Given the description of an element on the screen output the (x, y) to click on. 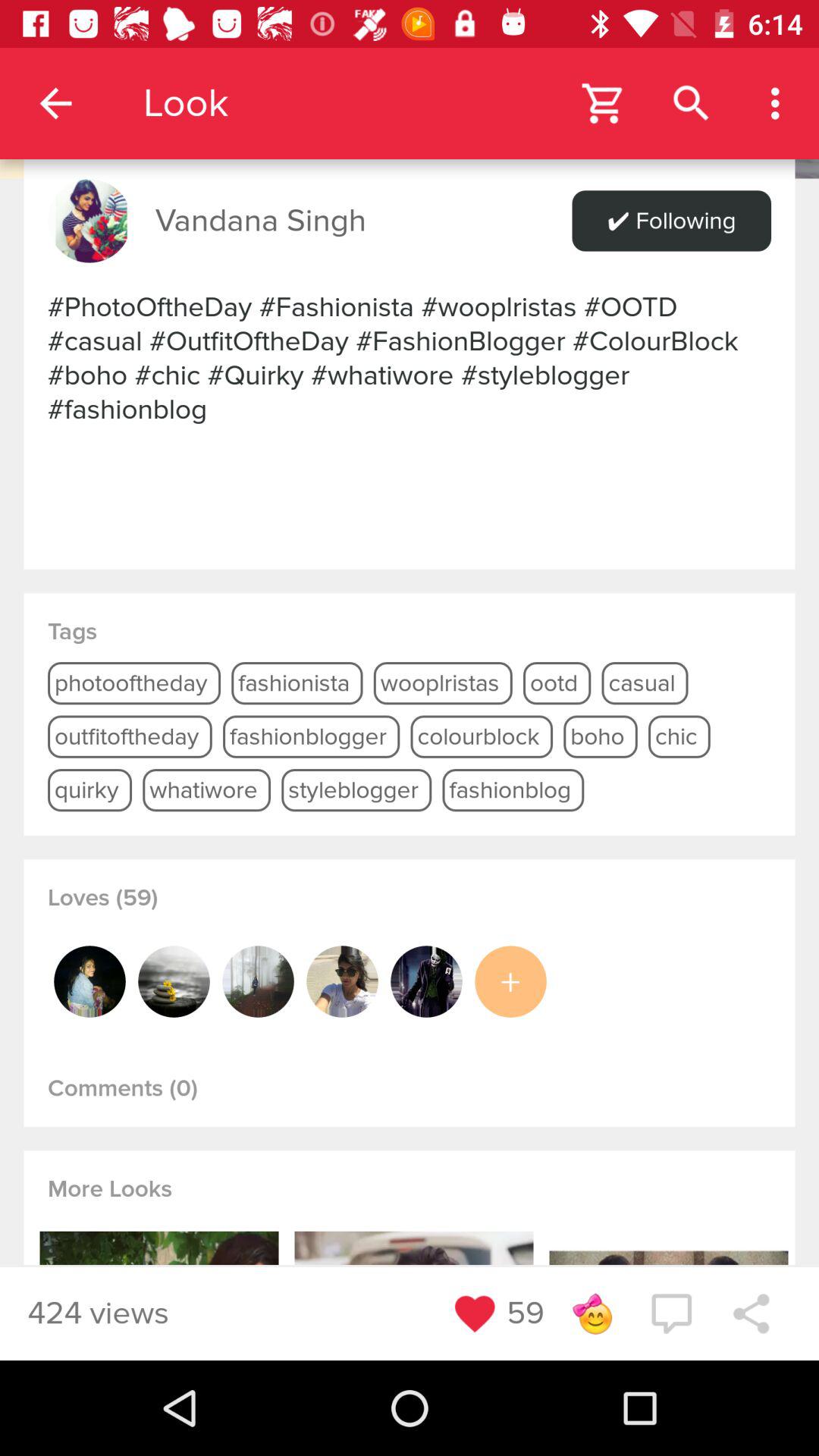
turn off item to the left of the vandana singh icon (89, 220)
